Given the description of an element on the screen output the (x, y) to click on. 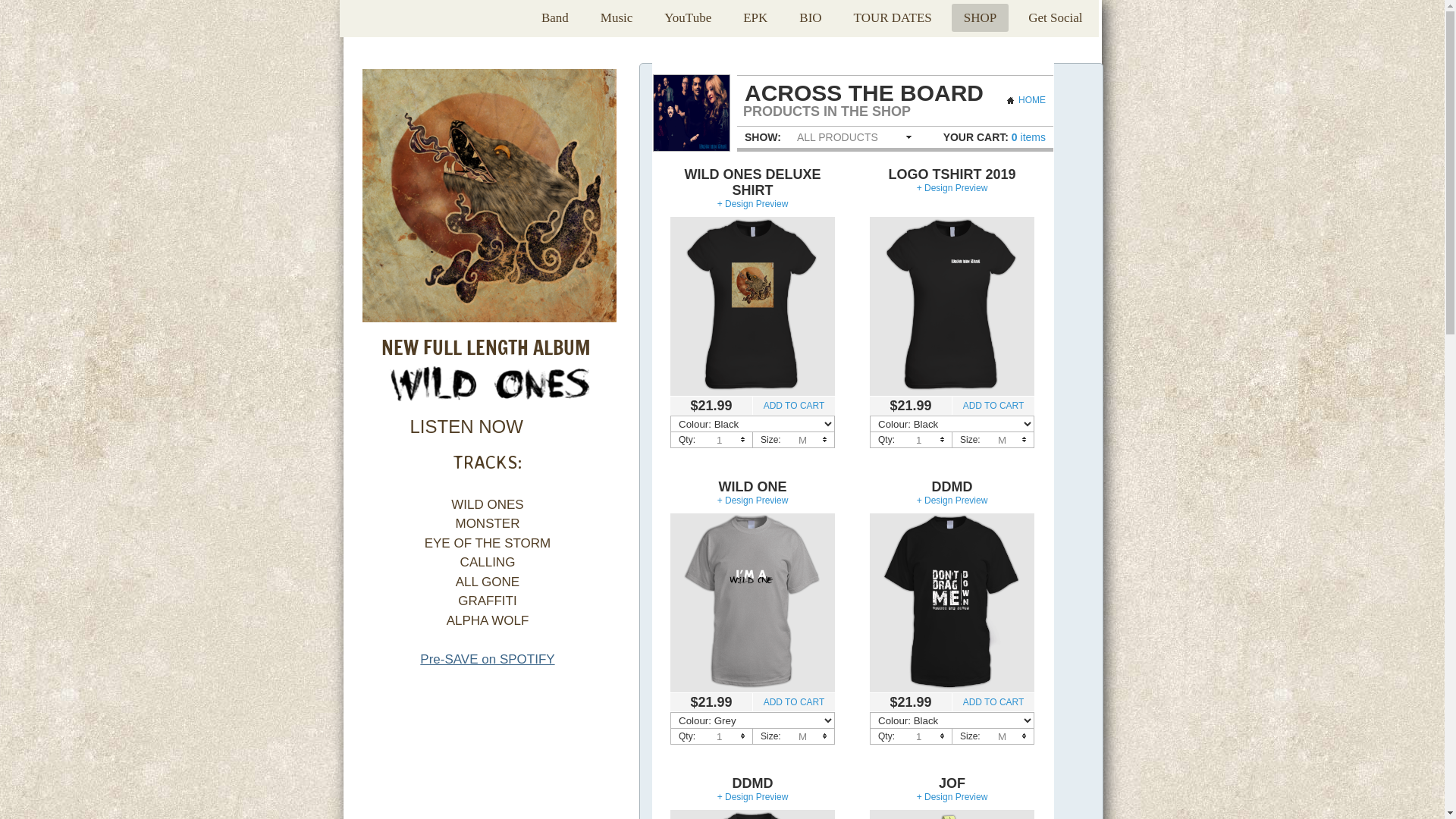
Music Element type: text (616, 17)
EPK Element type: text (755, 17)
TOUR DATES Element type: text (892, 17)
Get Social Element type: text (1055, 17)
BIO Element type: text (810, 17)
Band Element type: text (554, 17)
SHOP Element type: text (979, 17)
YouTube Element type: text (687, 17)
Pre-SAVE on SPOTIFY Element type: text (487, 659)
